Given the description of an element on the screen output the (x, y) to click on. 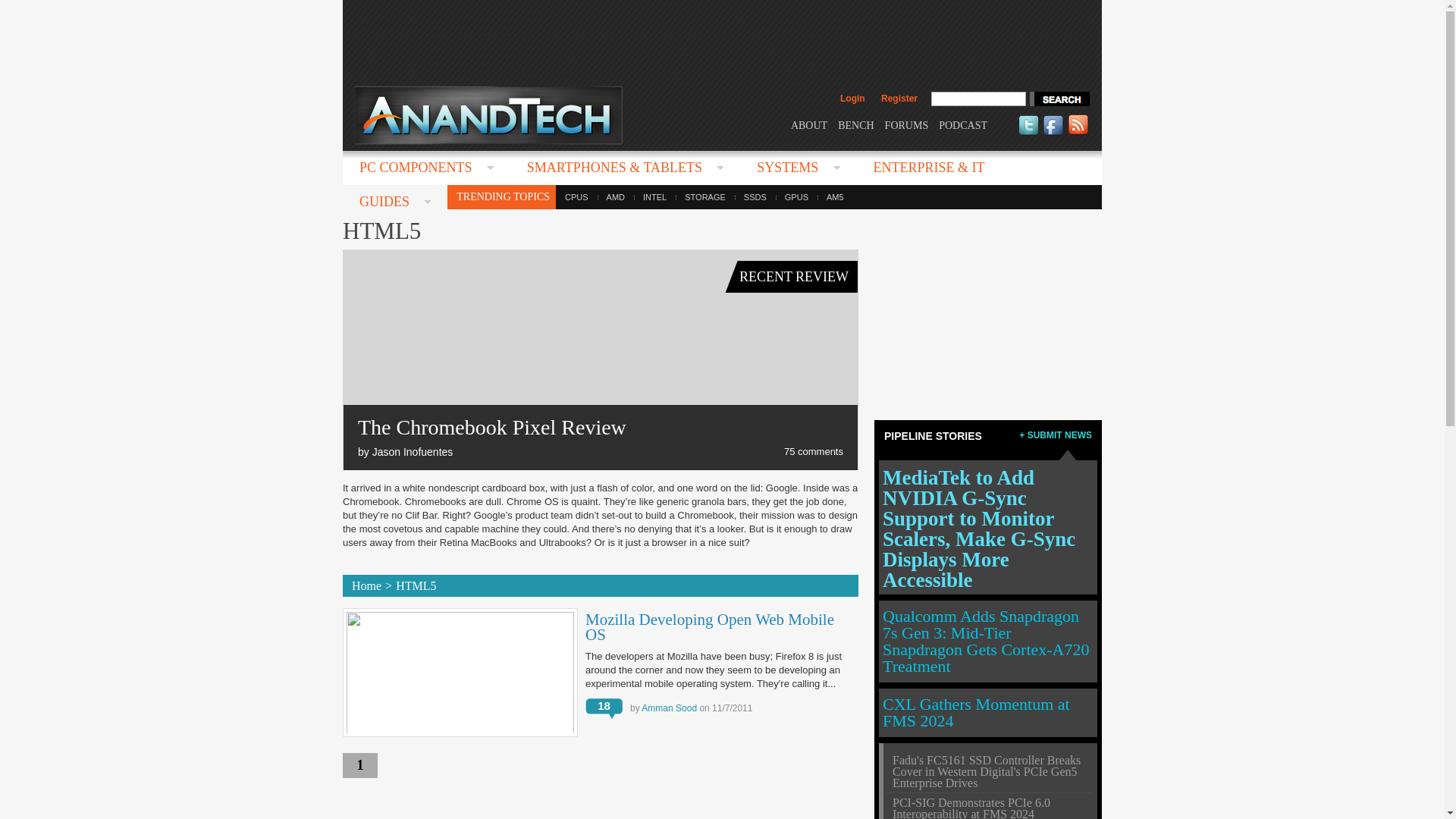
search (1059, 98)
BENCH (855, 125)
search (1059, 98)
search (1059, 98)
ABOUT (808, 125)
FORUMS (906, 125)
PODCAST (963, 125)
Register (898, 98)
Login (852, 98)
